Given the description of an element on the screen output the (x, y) to click on. 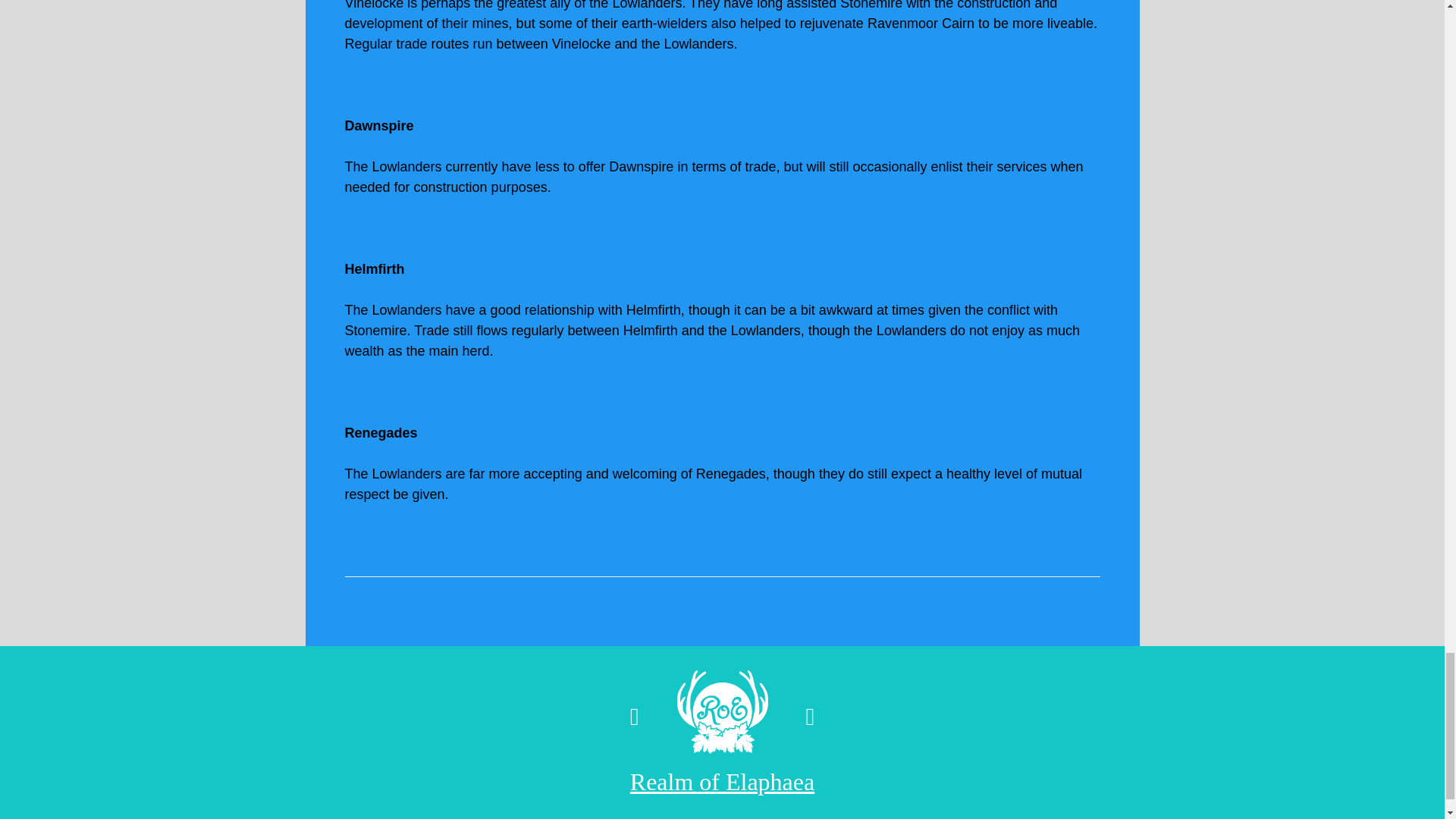
home-page-image-link (722, 716)
footer-link (721, 781)
